Given the description of an element on the screen output the (x, y) to click on. 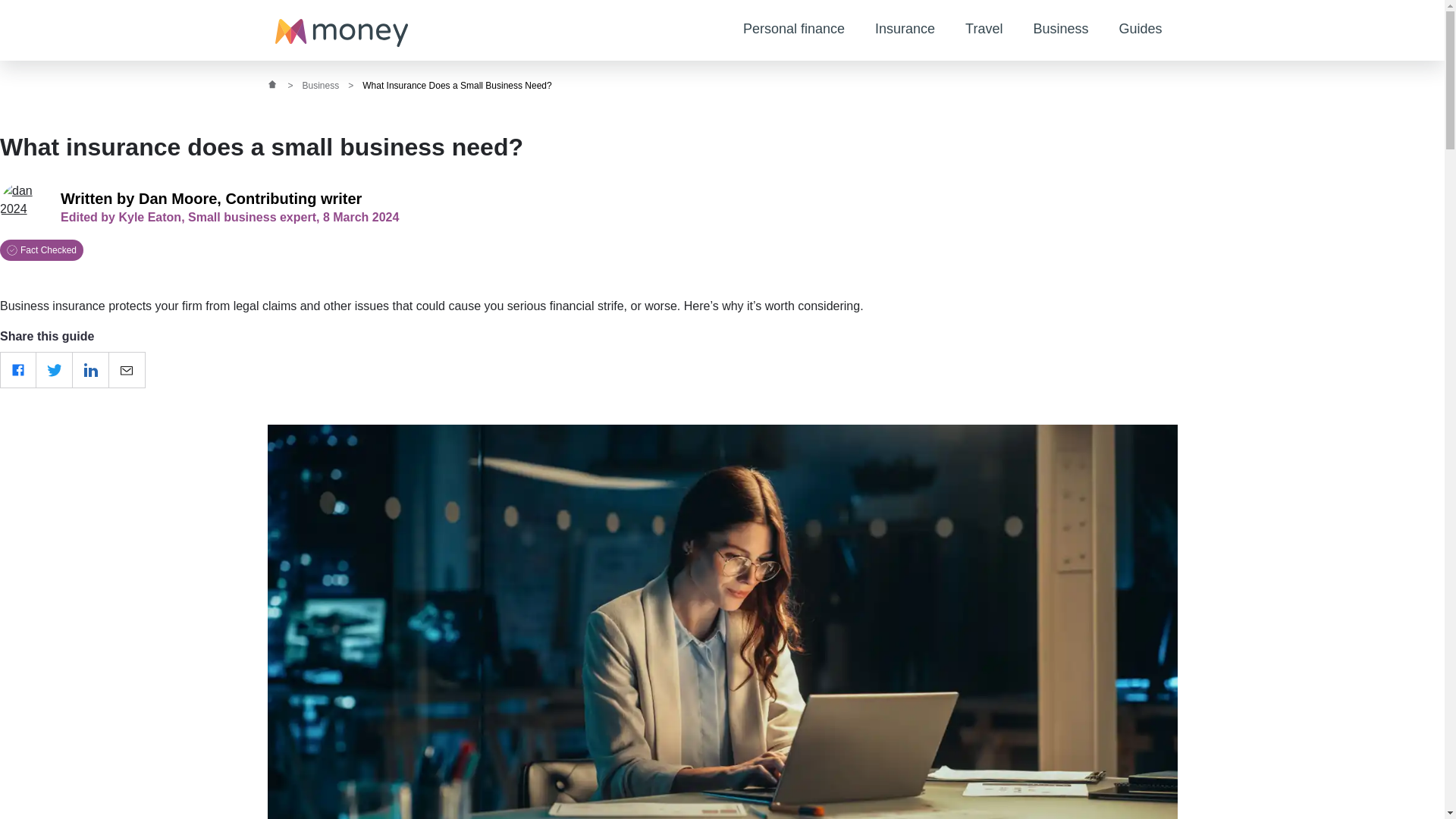
Personal finance (794, 30)
Money (341, 33)
